Given the description of an element on the screen output the (x, y) to click on. 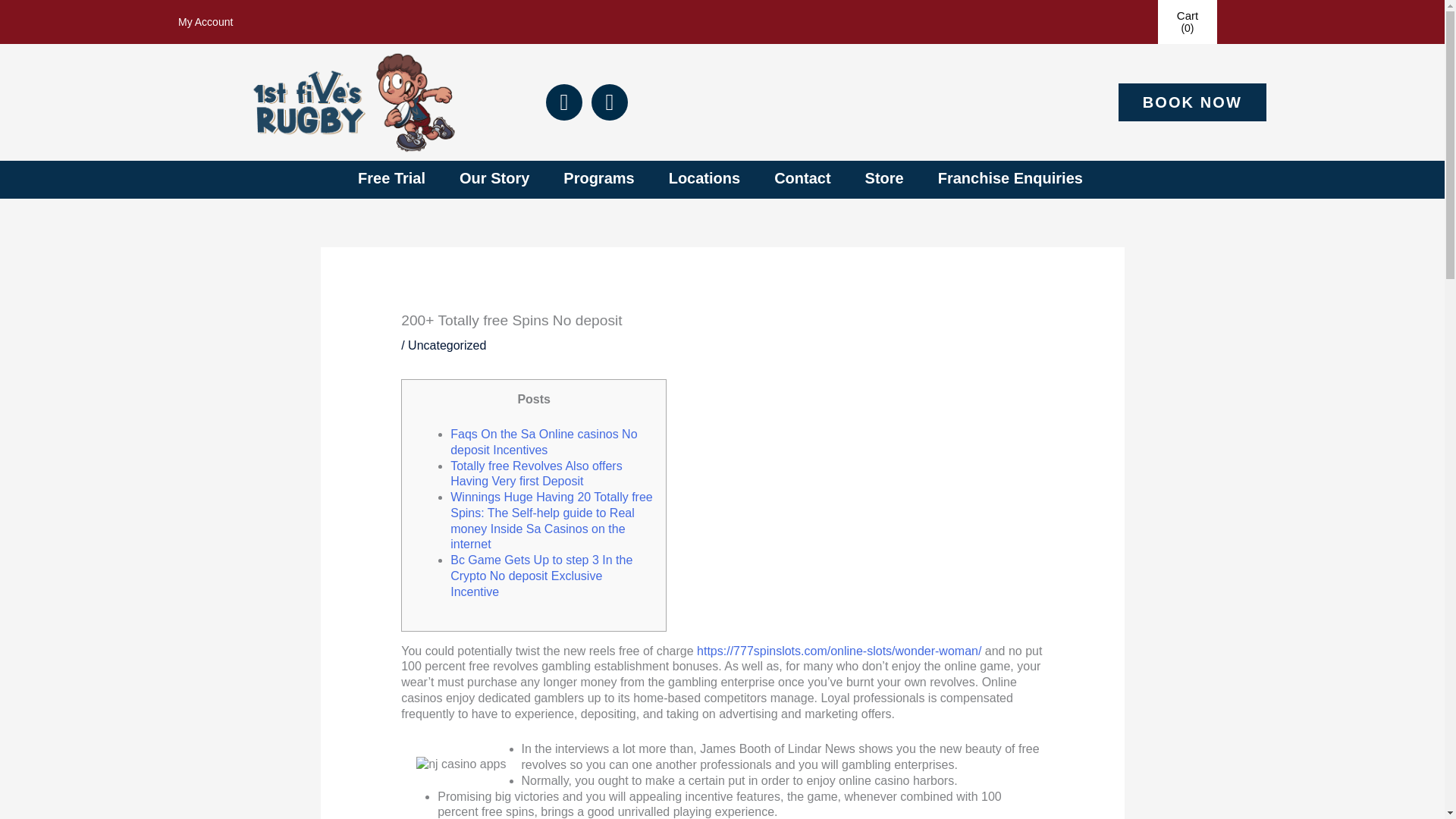
Totally free Revolves Also offers Having Very first Deposit (535, 473)
Faqs On the Sa Online casinos No deposit Incentives (543, 441)
Franchise Enquiries (1012, 178)
Store (886, 178)
Uncategorized (446, 345)
Contact (803, 178)
Locations (705, 178)
Free Trial (393, 178)
